Given the description of an element on the screen output the (x, y) to click on. 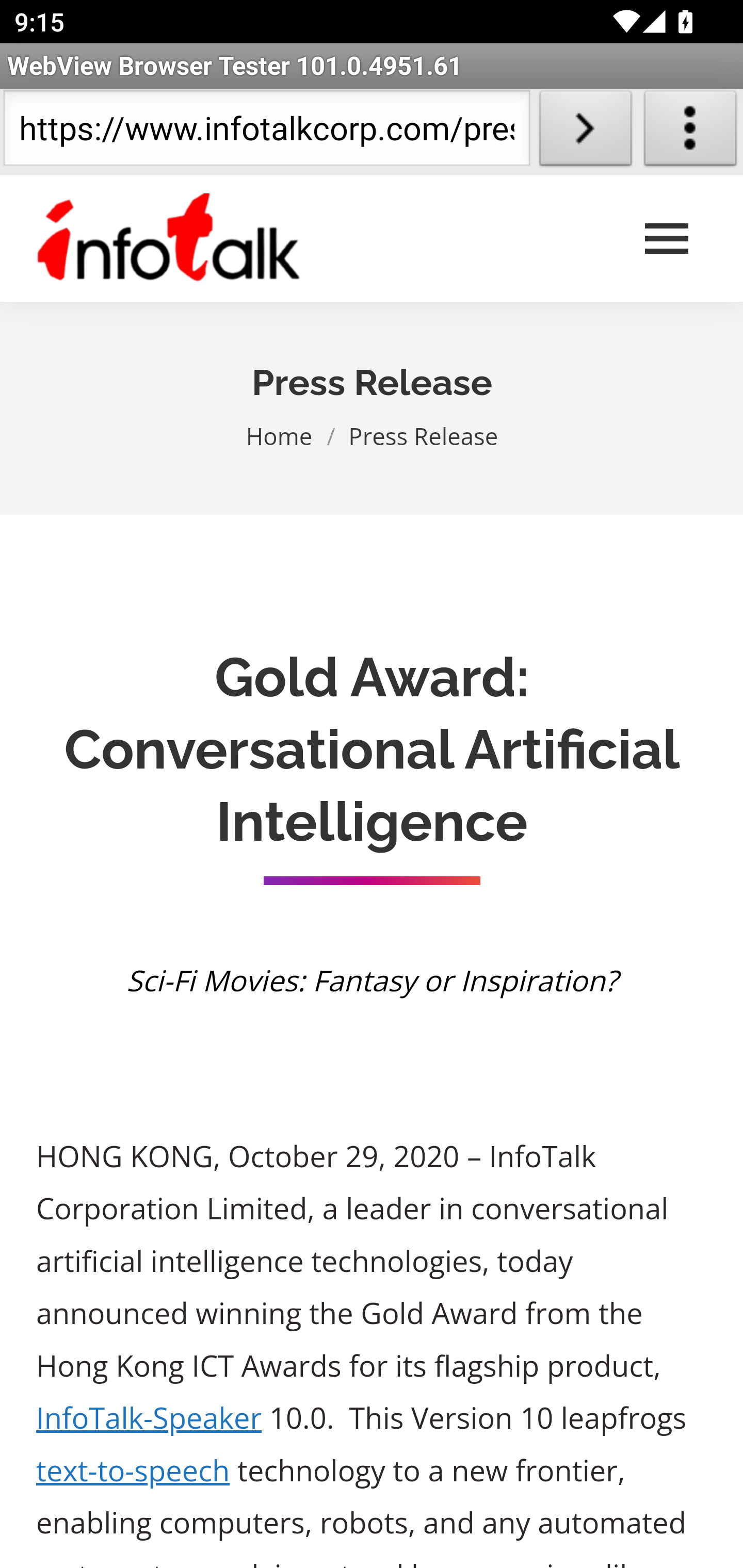
Load URL (585, 132)
About WebView (690, 132)
InfoTalk Corporation (169, 238)
Mobile menu icon (666, 238)
Home (279, 435)
InfoTalk-Speaker (149, 1418)
text-to-speech (133, 1470)
